Given the description of an element on the screen output the (x, y) to click on. 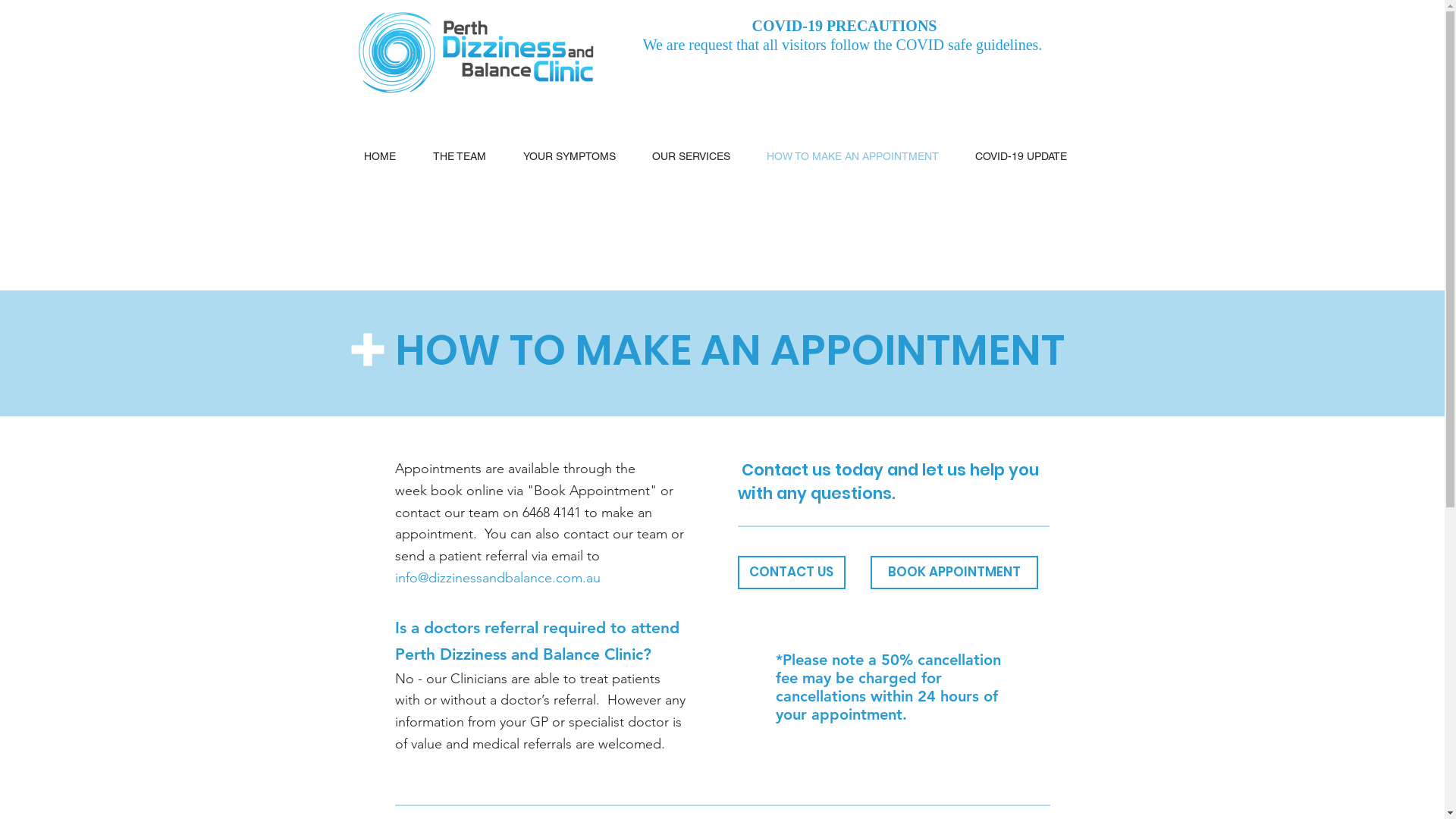
THE TEAM Element type: text (466, 155)
BOOK APPOINTMENT Element type: text (954, 572)
info@dizzinessandbalance.com.au Element type: text (496, 577)
HOW TO MAKE AN APPOINTMENT Element type: text (859, 155)
CONTACT US Element type: text (790, 572)
COVID-19 UPDATE Element type: text (1027, 155)
OUR SERVICES Element type: text (697, 155)
YOUR SYMPTOMS Element type: text (575, 155)
HOME Element type: text (385, 155)
